Given the description of an element on the screen output the (x, y) to click on. 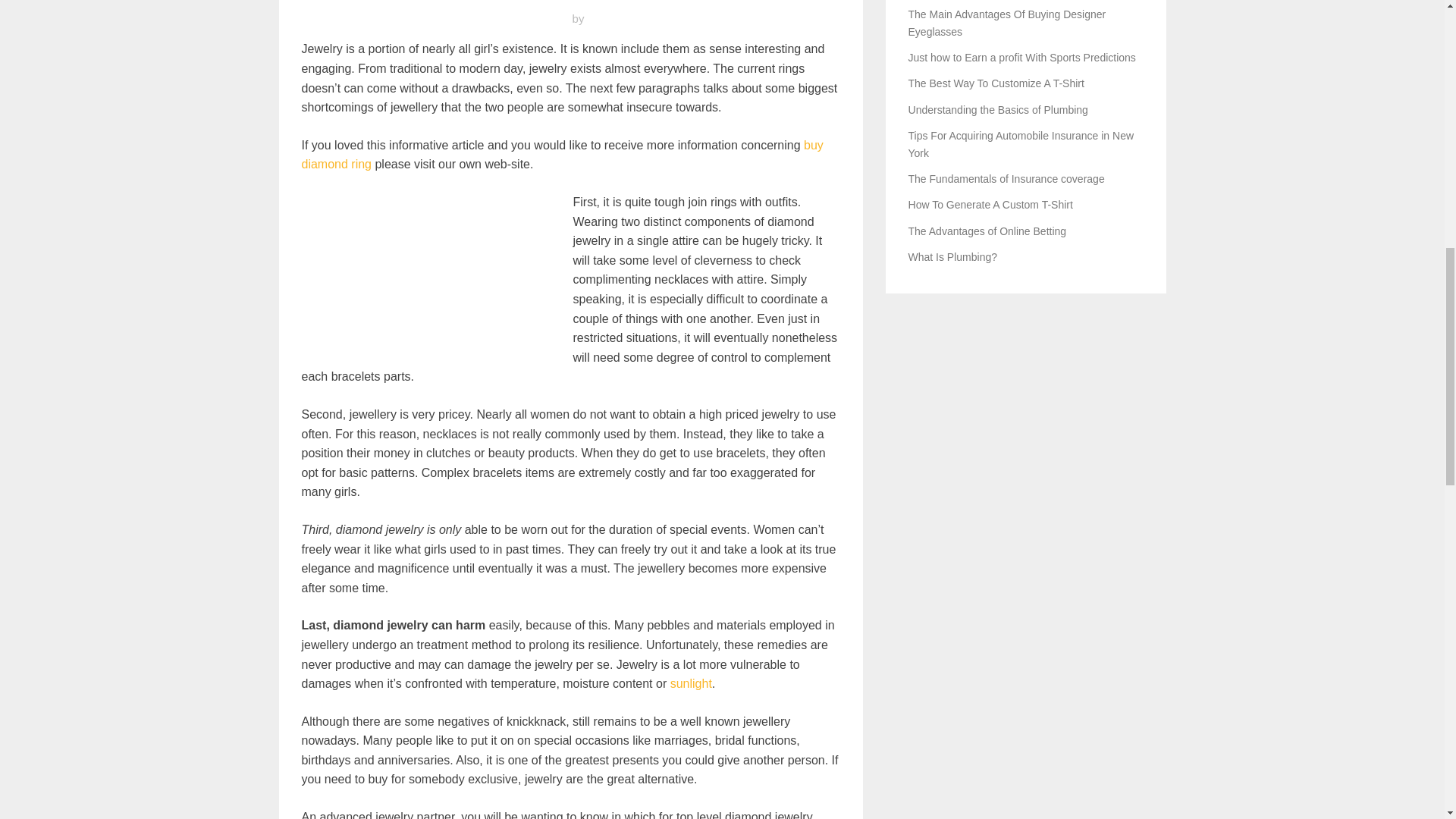
How To Generate A Custom T-Shirt (990, 204)
Just how to Earn a profit With Sports Predictions (1021, 57)
The Advantages of Online Betting (987, 231)
What Is Plumbing? (952, 256)
sunlight (690, 683)
buy diamond ring (562, 154)
The Best Way To Customize A T-Shirt (996, 82)
Tips For Acquiring Automobile Insurance in New York (1021, 143)
Understanding the Basics of Plumbing (997, 110)
The Fundamentals of Insurance coverage (1006, 178)
